Given the description of an element on the screen output the (x, y) to click on. 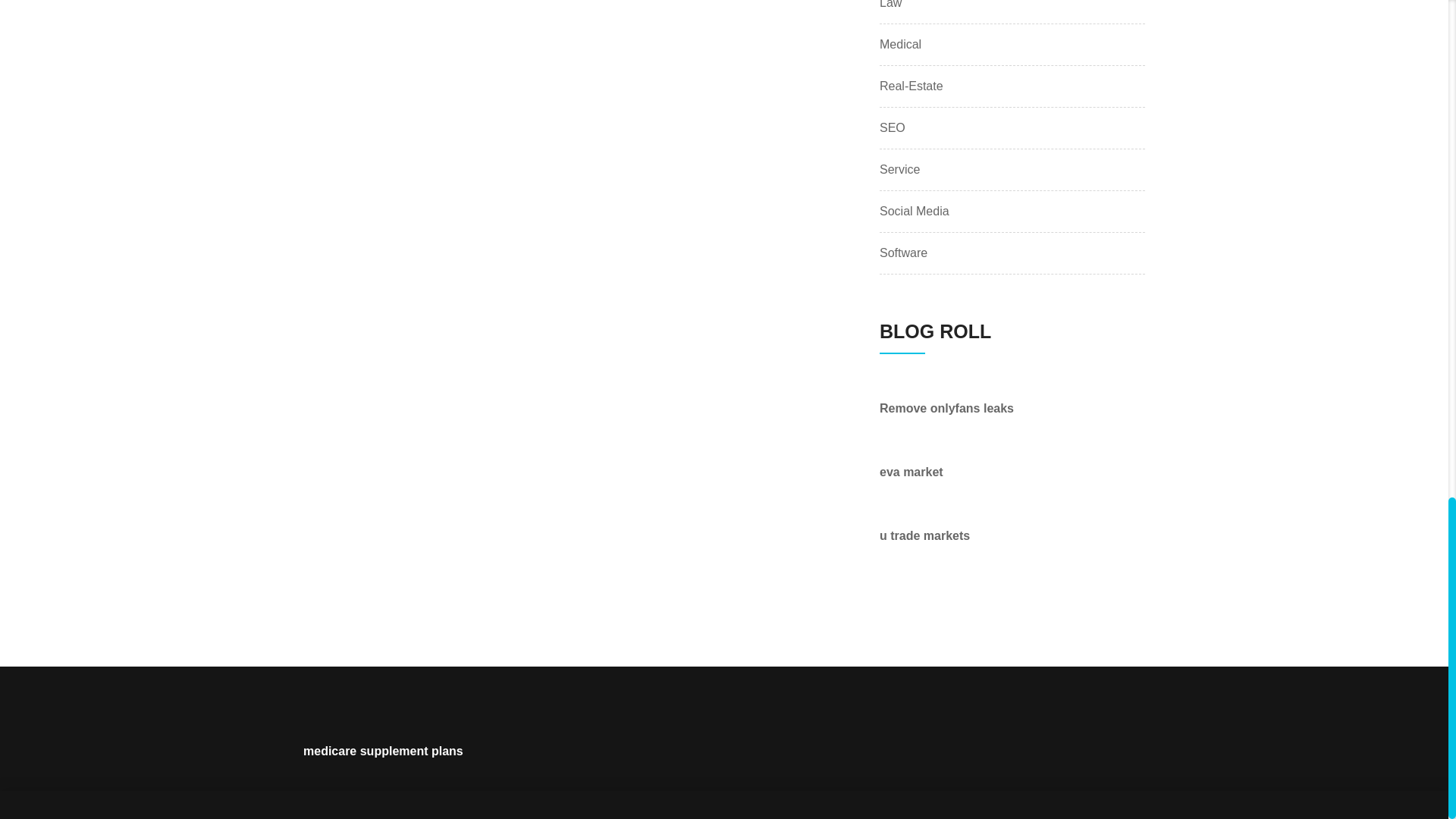
Social Media (914, 211)
medicare supplement plans (382, 750)
eva market (911, 472)
u trade markets (924, 535)
Service (899, 169)
SEO (892, 127)
Real-Estate (911, 85)
Remove onlyfans leaks (946, 408)
Software (903, 253)
Medical (900, 45)
